Given the description of an element on the screen output the (x, y) to click on. 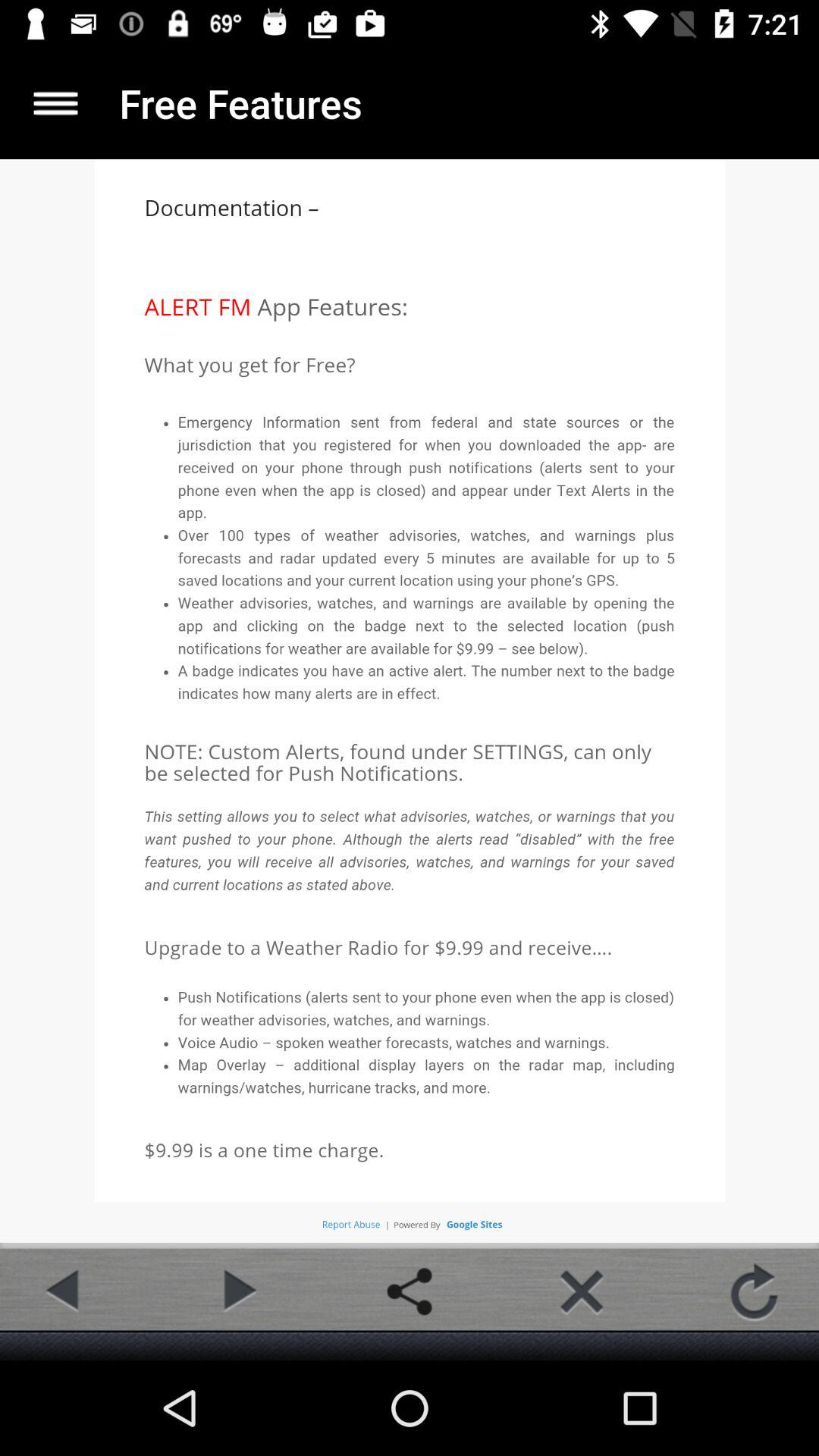
more details (55, 103)
